Given the description of an element on the screen output the (x, y) to click on. 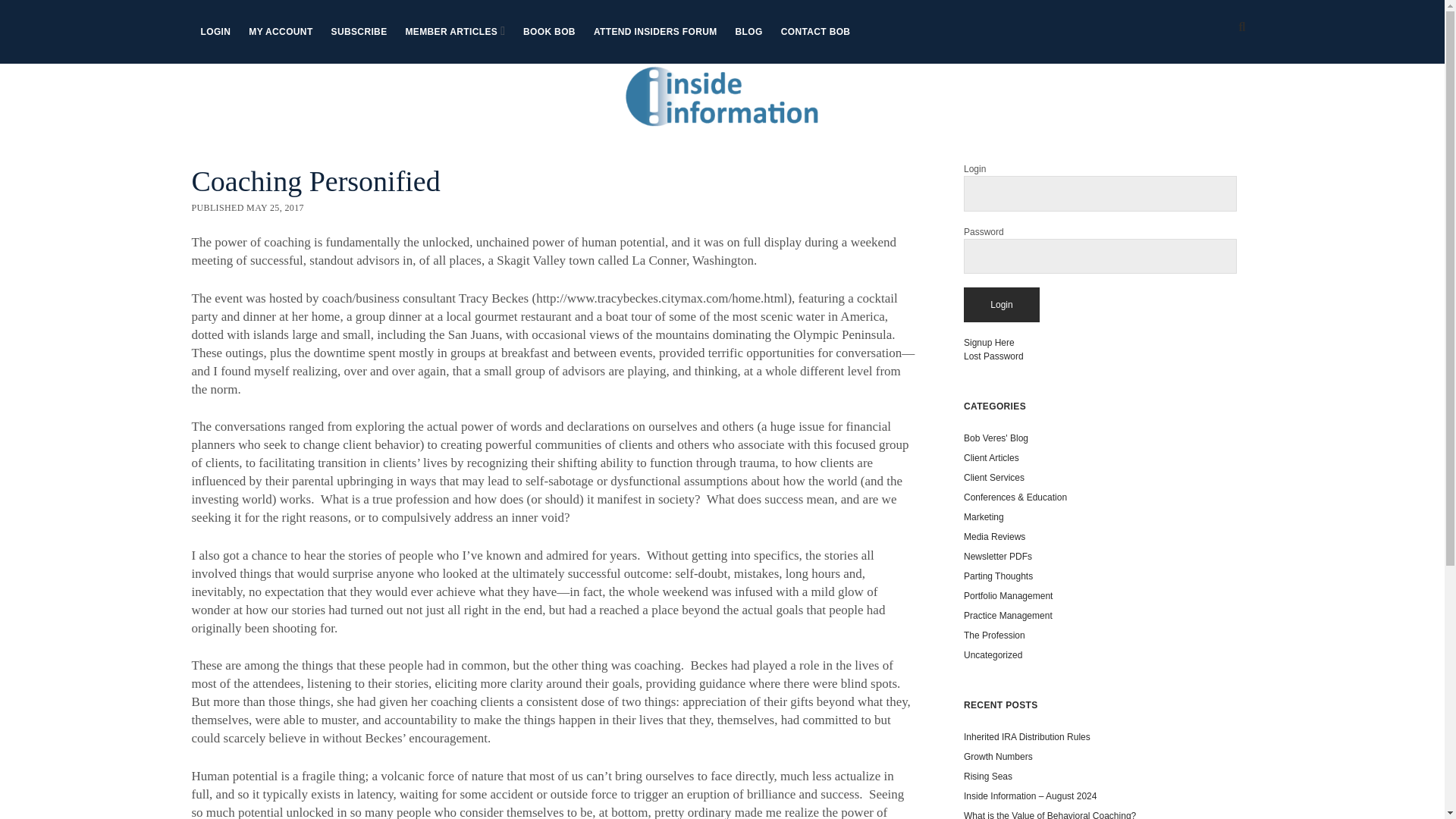
Newsletter PDFs (997, 556)
The Profession (994, 634)
MEMBER ARTICLES (451, 31)
Uncategorized (992, 655)
Inside Information (722, 109)
BOOK BOB (549, 31)
open menu (502, 30)
Media Reviews (994, 536)
LOGIN (215, 31)
Portfolio Management (1007, 595)
BLOG (748, 31)
Client Articles (991, 457)
Login (1001, 304)
Client Services (994, 477)
Practice Management (1007, 615)
